Given the description of an element on the screen output the (x, y) to click on. 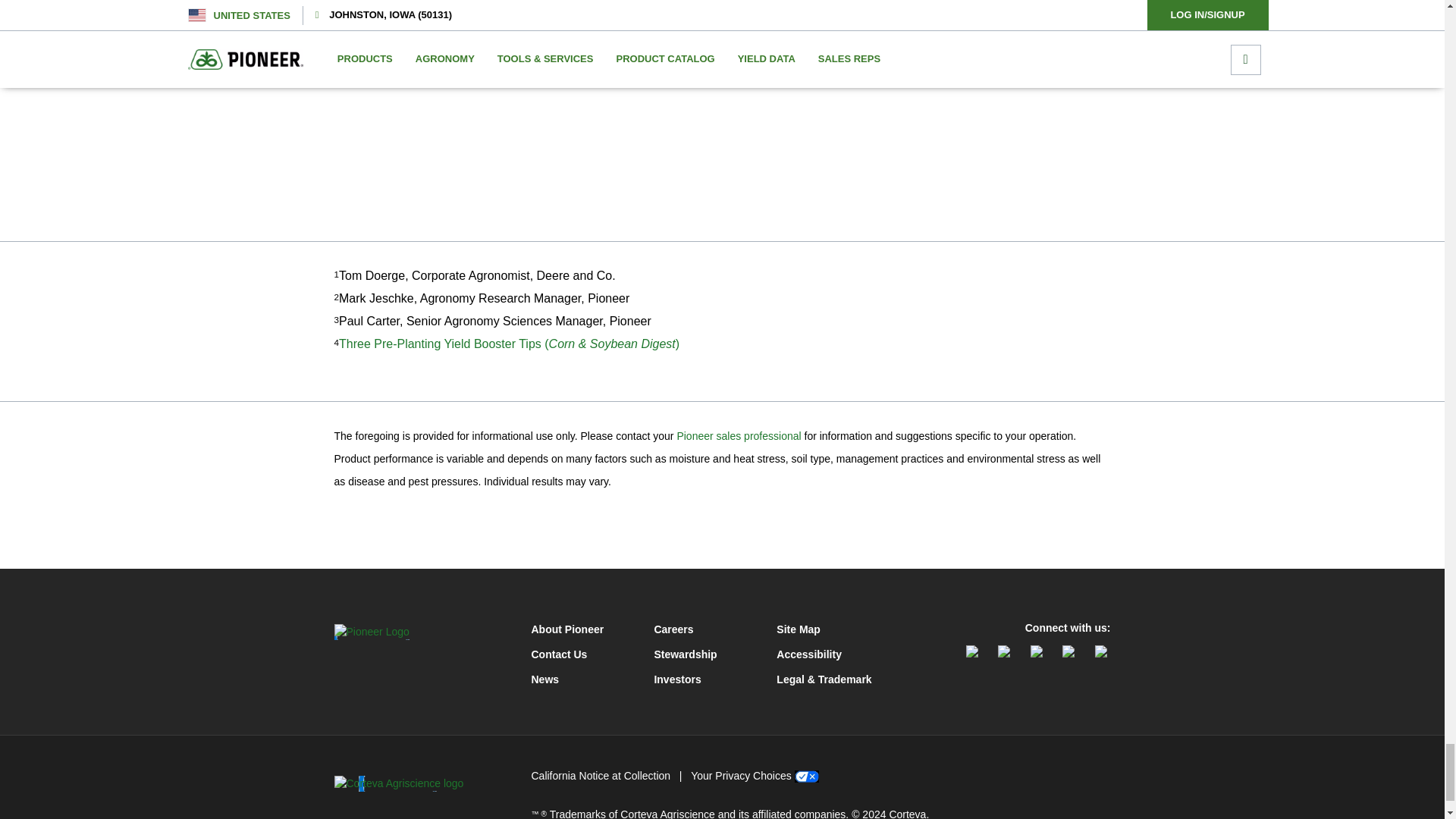
News (582, 679)
About Pioneer (582, 629)
Careers (705, 629)
Contact Us (582, 654)
Stewardship (705, 654)
Pioneer sales professional (738, 435)
Pioneer Logo (371, 631)
